Given the description of an element on the screen output the (x, y) to click on. 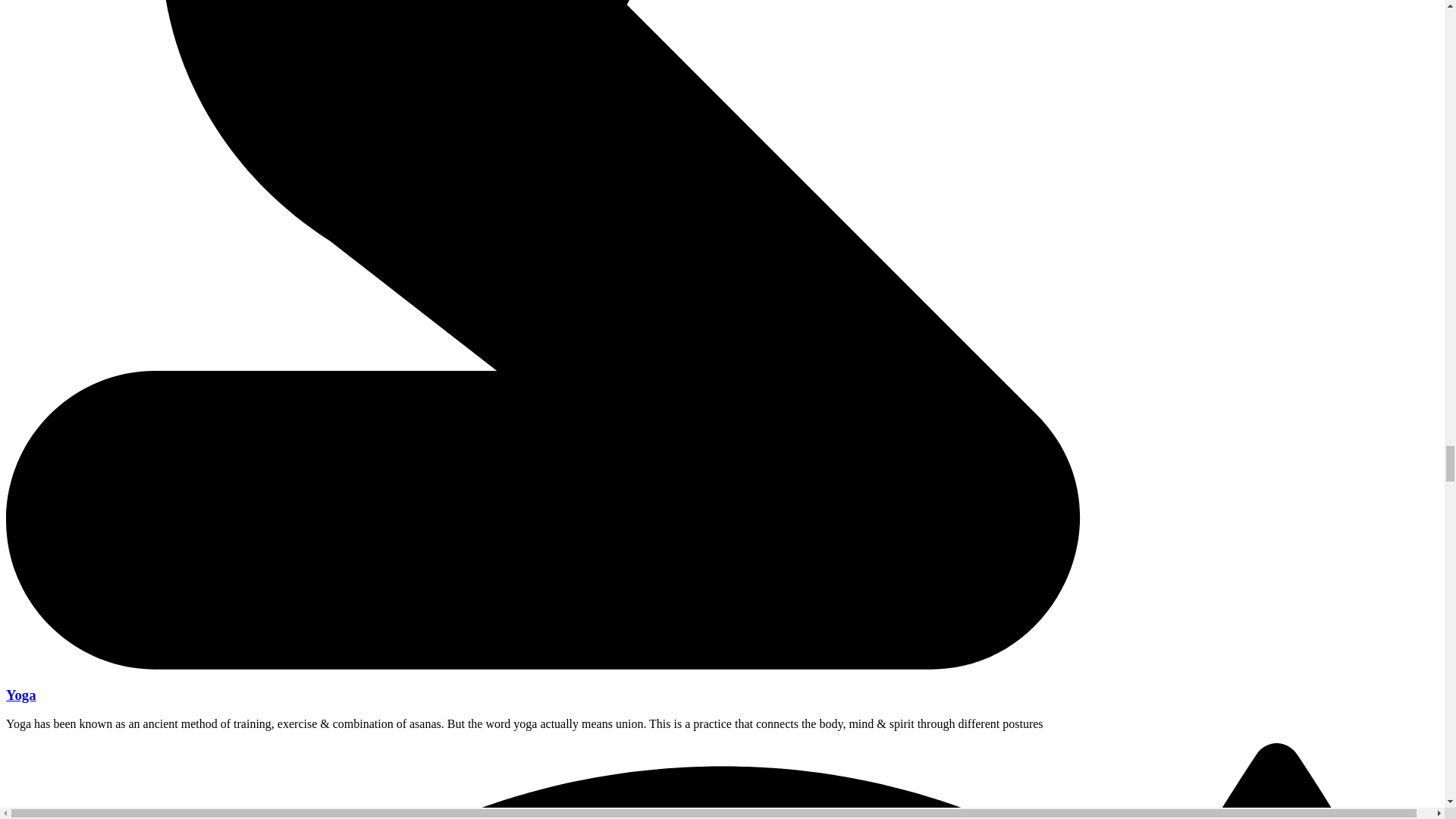
Yoga (20, 694)
